Given the description of an element on the screen output the (x, y) to click on. 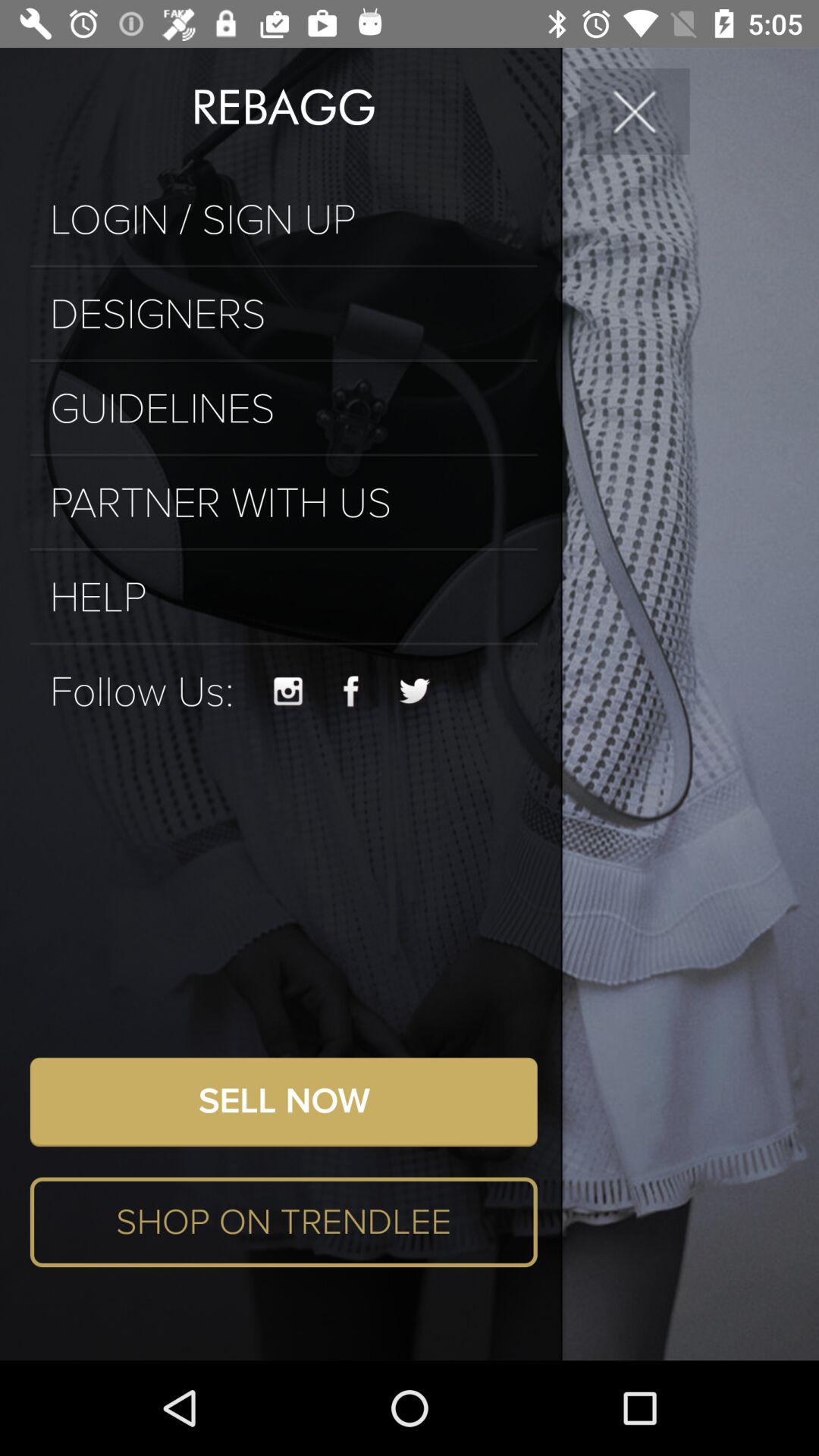
flip until the partner with us (283, 503)
